Given the description of an element on the screen output the (x, y) to click on. 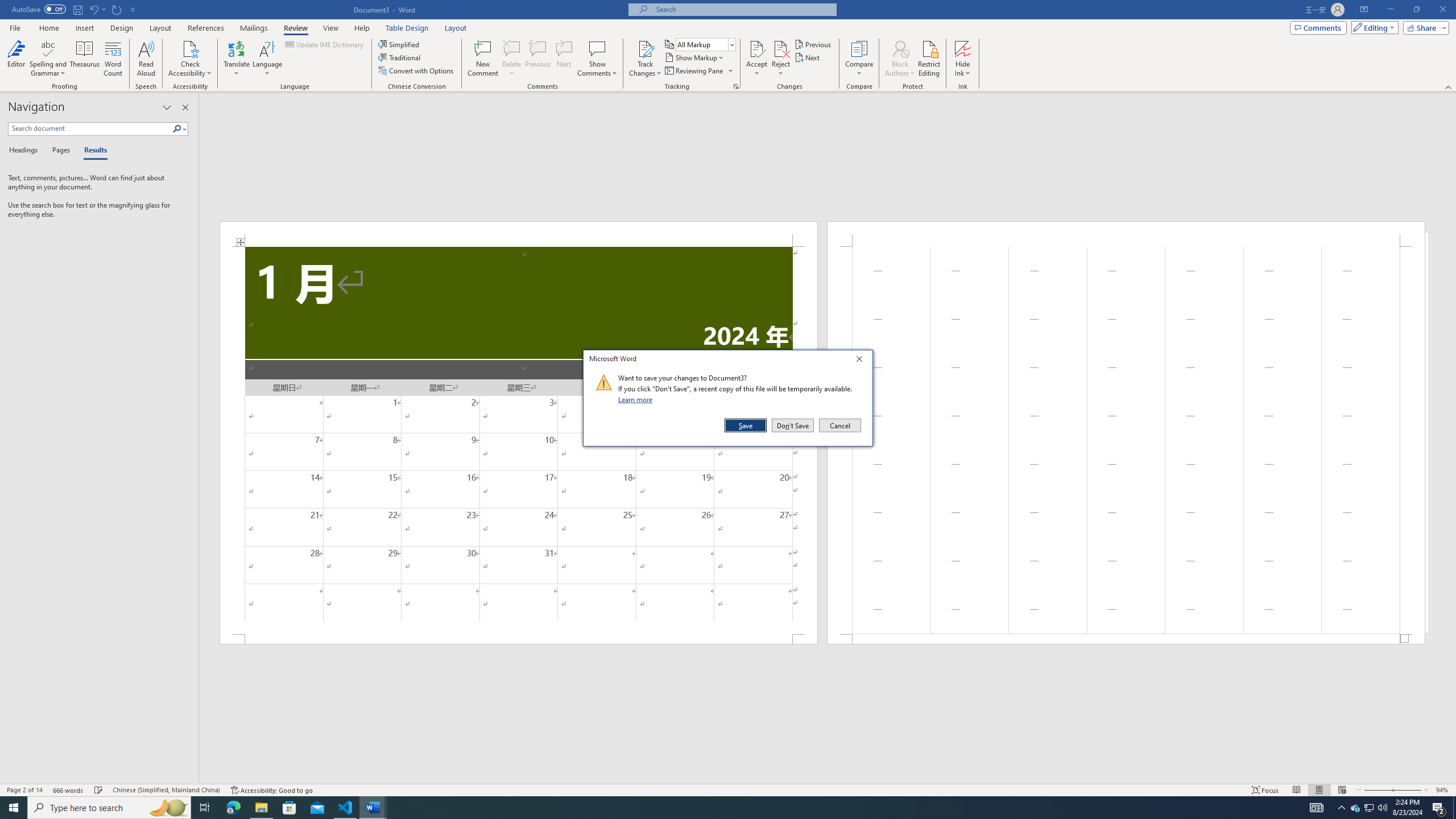
Don't Save (792, 425)
AutomationID: 4105 (1316, 807)
Update IME Dictionary... (324, 44)
Accessibility Checker Accessibility: Good to go (271, 790)
Header -Section 1- (1355, 807)
Translate (1126, 233)
Footer -Section 1- (236, 58)
Check Accessibility (1126, 638)
